Given the description of an element on the screen output the (x, y) to click on. 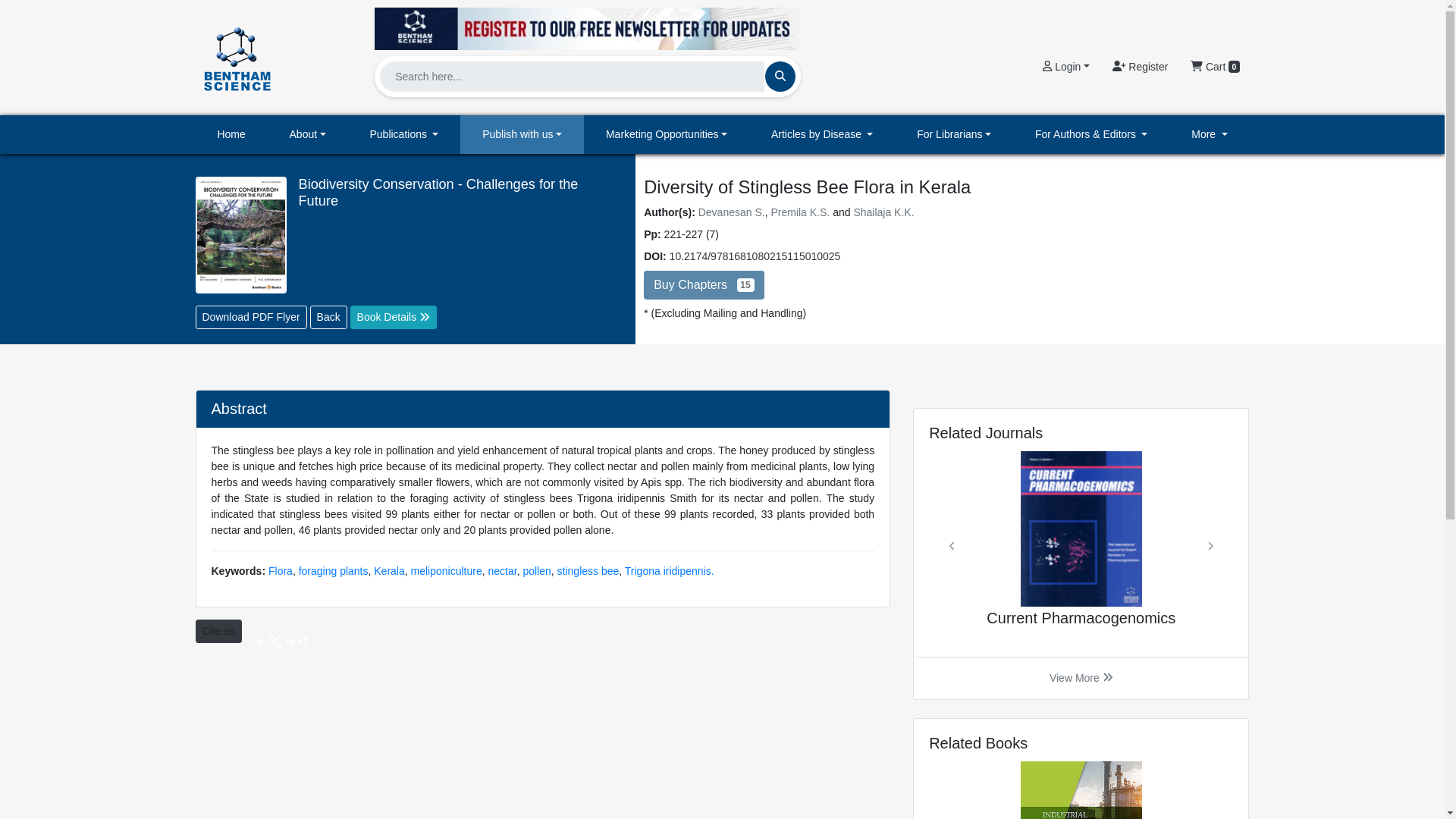
Search Button (779, 76)
About (307, 134)
Home (231, 134)
Login (1065, 67)
newsletter banner (587, 24)
Cart 0 (1214, 67)
Register (1139, 67)
Publications (404, 134)
newsletter banner (587, 28)
